Given the description of an element on the screen output the (x, y) to click on. 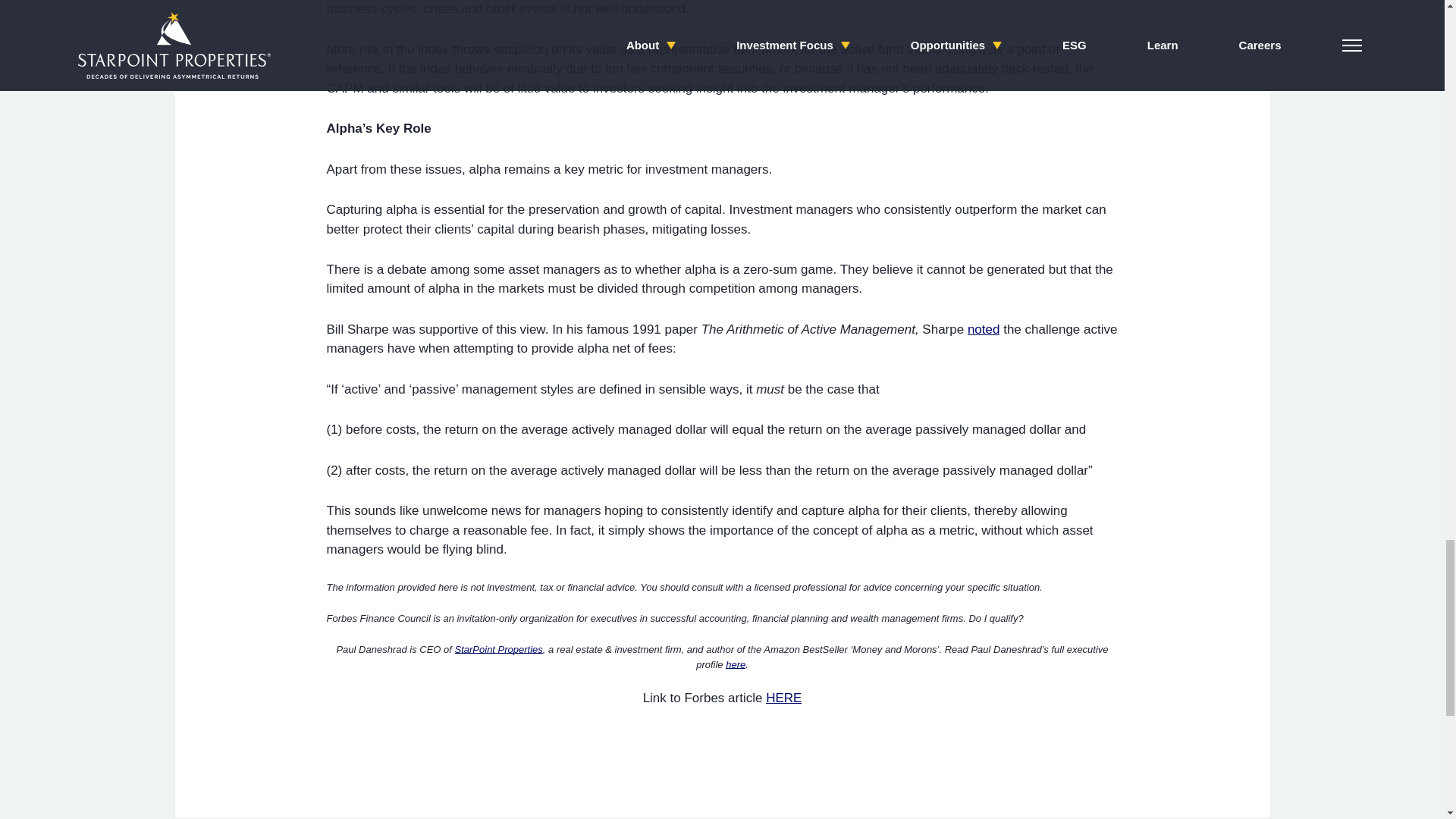
noted (984, 329)
StarPoint Properties (498, 649)
here (735, 664)
HERE (783, 697)
